Given the description of an element on the screen output the (x, y) to click on. 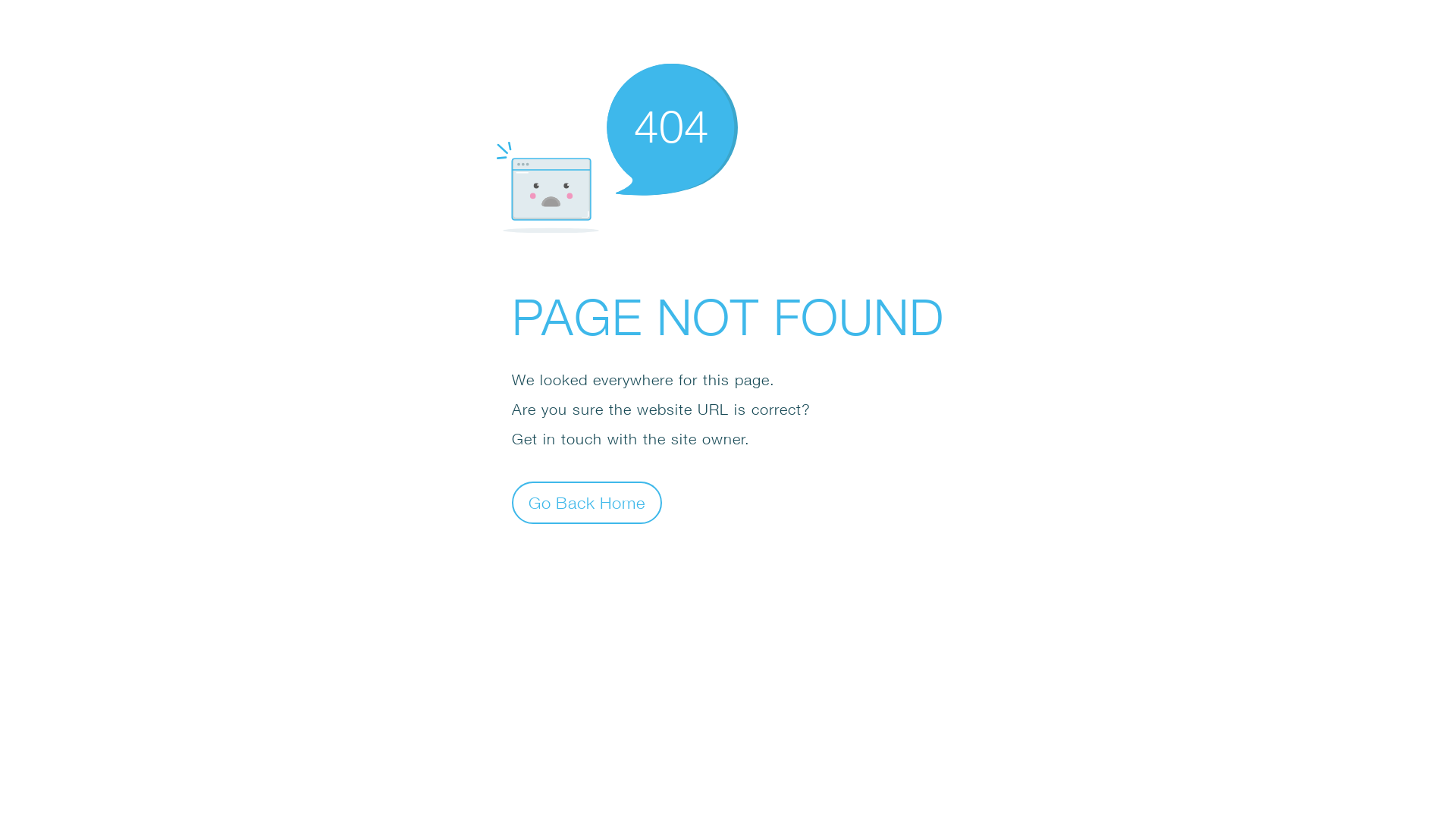
Go Back Home Element type: text (586, 502)
